Given the description of an element on the screen output the (x, y) to click on. 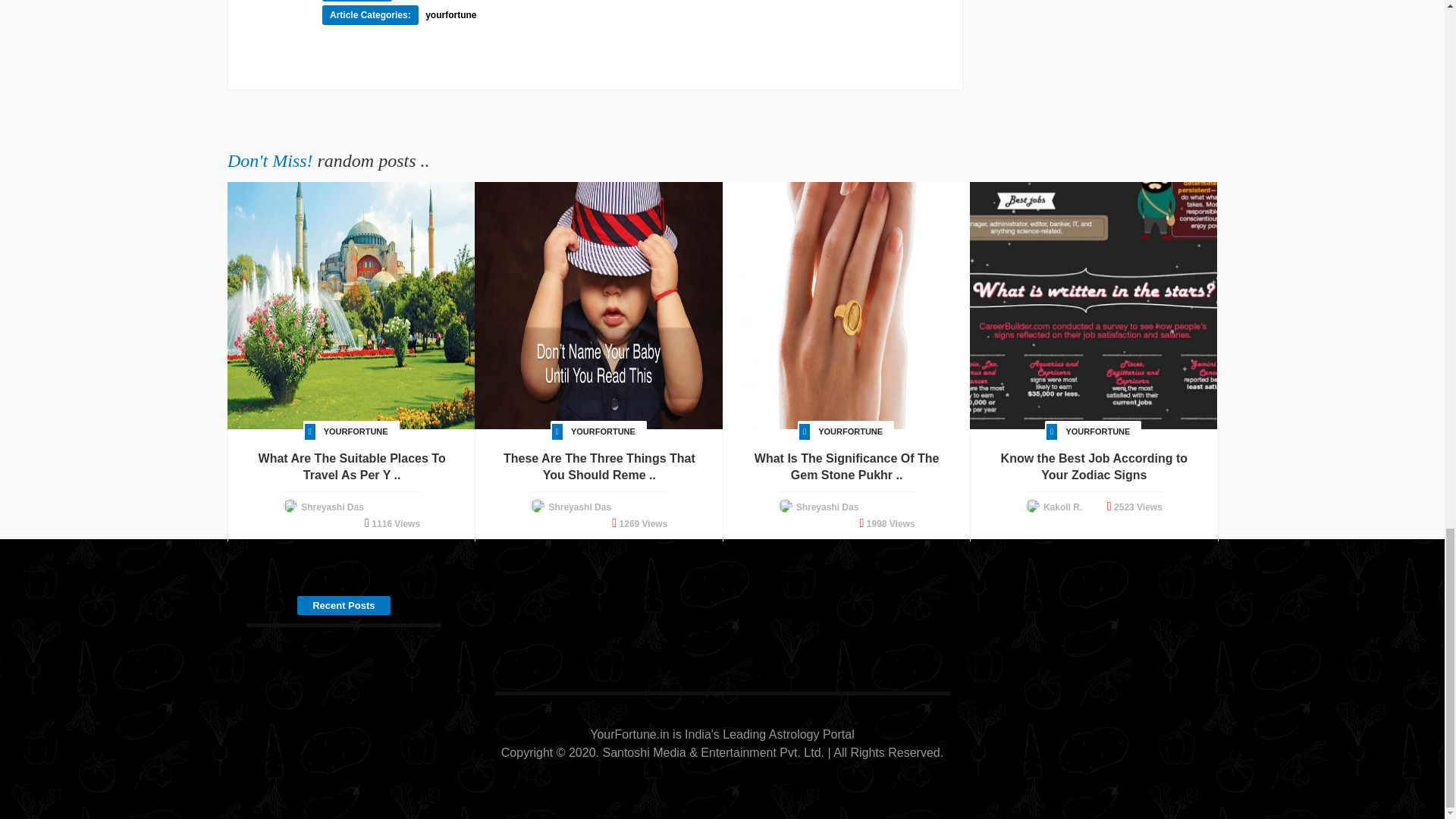
What Are The Suitable Places To Travel As Per Y .. (352, 467)
Shreyashi Das (827, 507)
Posts by Shreyashi Das (332, 507)
YOURFORTUNE (1097, 431)
Posts by Shreyashi Das (579, 507)
YOURFORTUNE (355, 431)
Know the Best Job According to Your Zodiac Signs (1094, 467)
These Are The Three Things That You Should Reme .. (599, 467)
yourfortune (450, 14)
YOURFORTUNE (850, 431)
Posts by Shreyashi Das (827, 507)
Shreyashi Das (332, 507)
YOURFORTUNE (602, 431)
What Is The Significance Of The Gem Stone Pukhr .. (845, 467)
Shreyashi Das (579, 507)
